Given the description of an element on the screen output the (x, y) to click on. 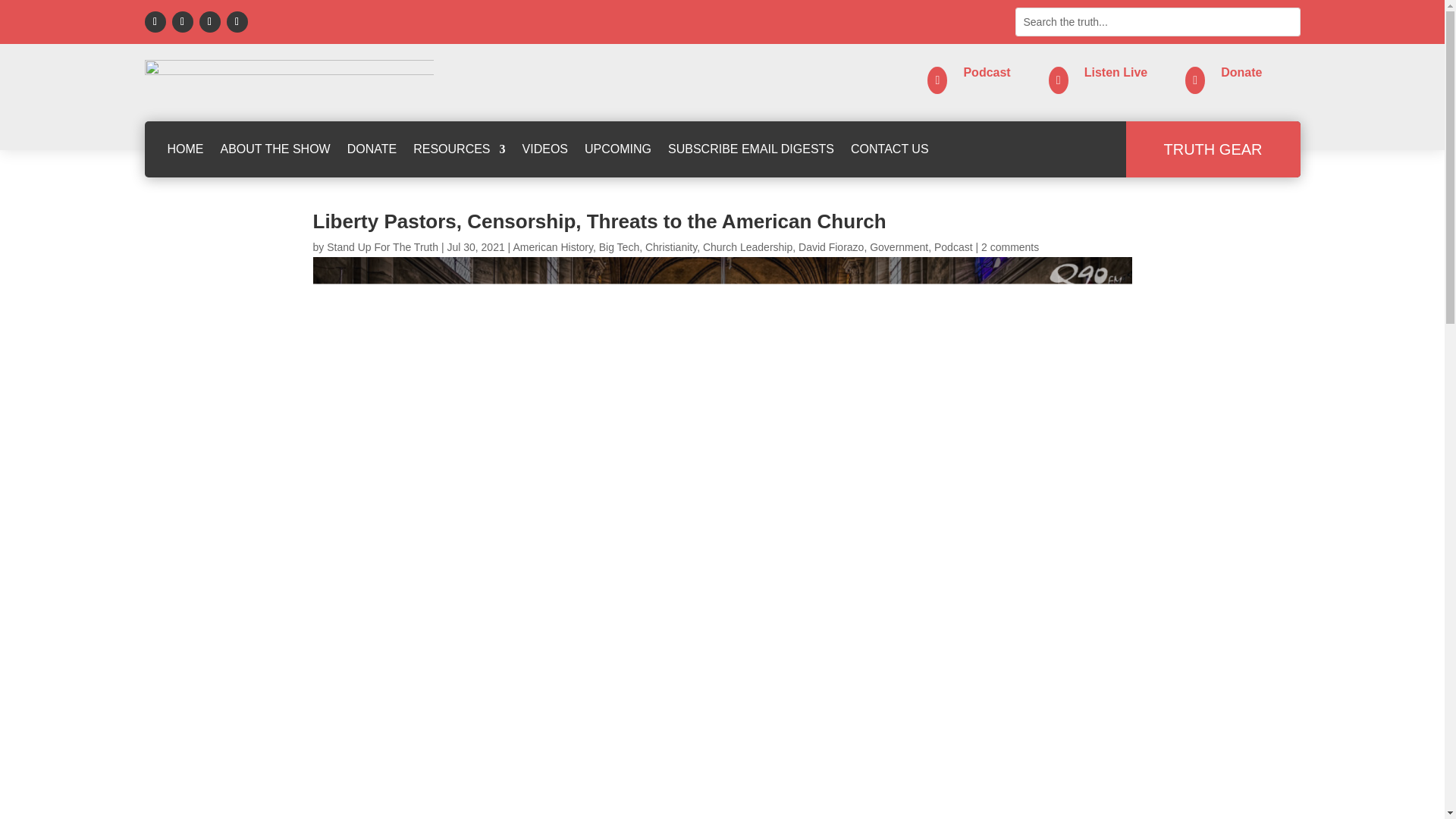
Follow on Spotify (181, 21)
Search (24, 13)
UPCOMING (617, 149)
Podcast (986, 72)
David Fiorazo (830, 246)
Government (898, 246)
Listen Live (1116, 72)
Posts by Stand Up For The Truth (382, 246)
ABOUT THE SHOW (274, 149)
Follow on Facebook (154, 21)
American History (552, 246)
Donate (1241, 72)
Big Tech (618, 246)
Christianity (671, 246)
Church Leadership (747, 246)
